Given the description of an element on the screen output the (x, y) to click on. 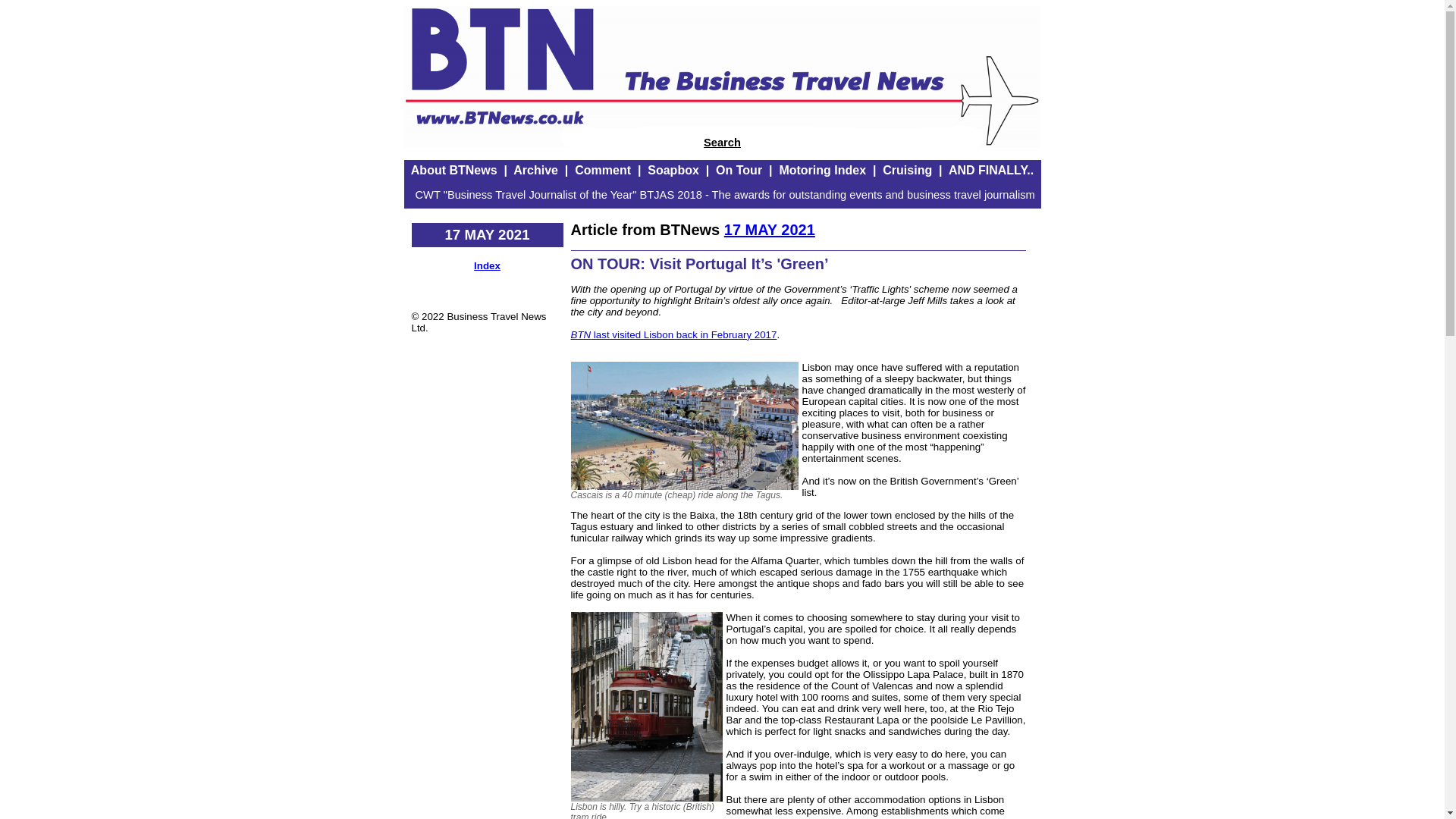
Motoring Index (822, 169)
Index (487, 265)
AND FINALLY.. (991, 169)
On Tour (738, 169)
About BTNews (453, 169)
Cruising (906, 169)
17 MAY 2021 (769, 229)
Search (722, 142)
Soapbox (672, 169)
BTN last visited Lisbon back in February 2017 (673, 334)
